Given the description of an element on the screen output the (x, y) to click on. 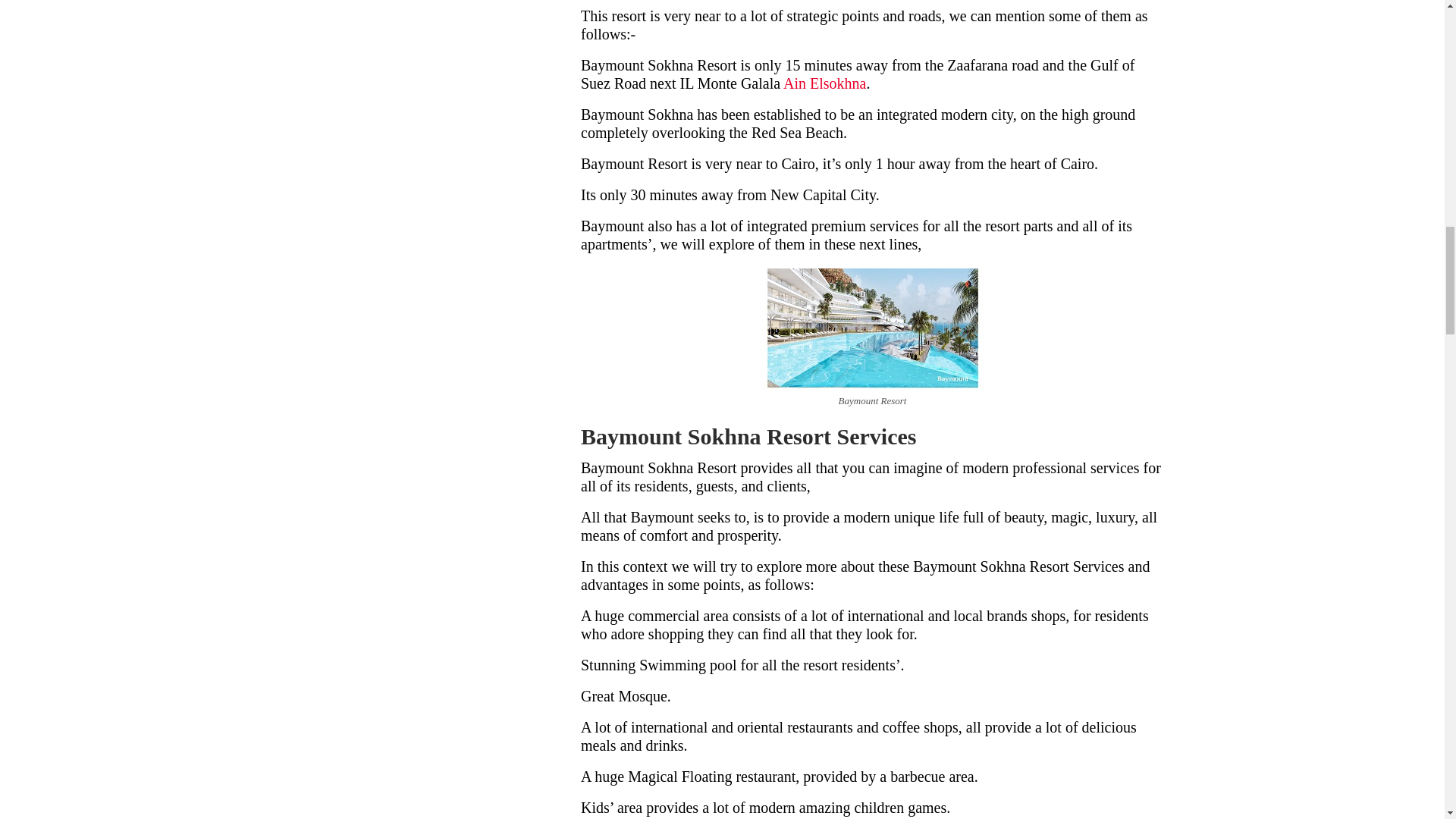
Ain Elsokhna (824, 83)
